Given the description of an element on the screen output the (x, y) to click on. 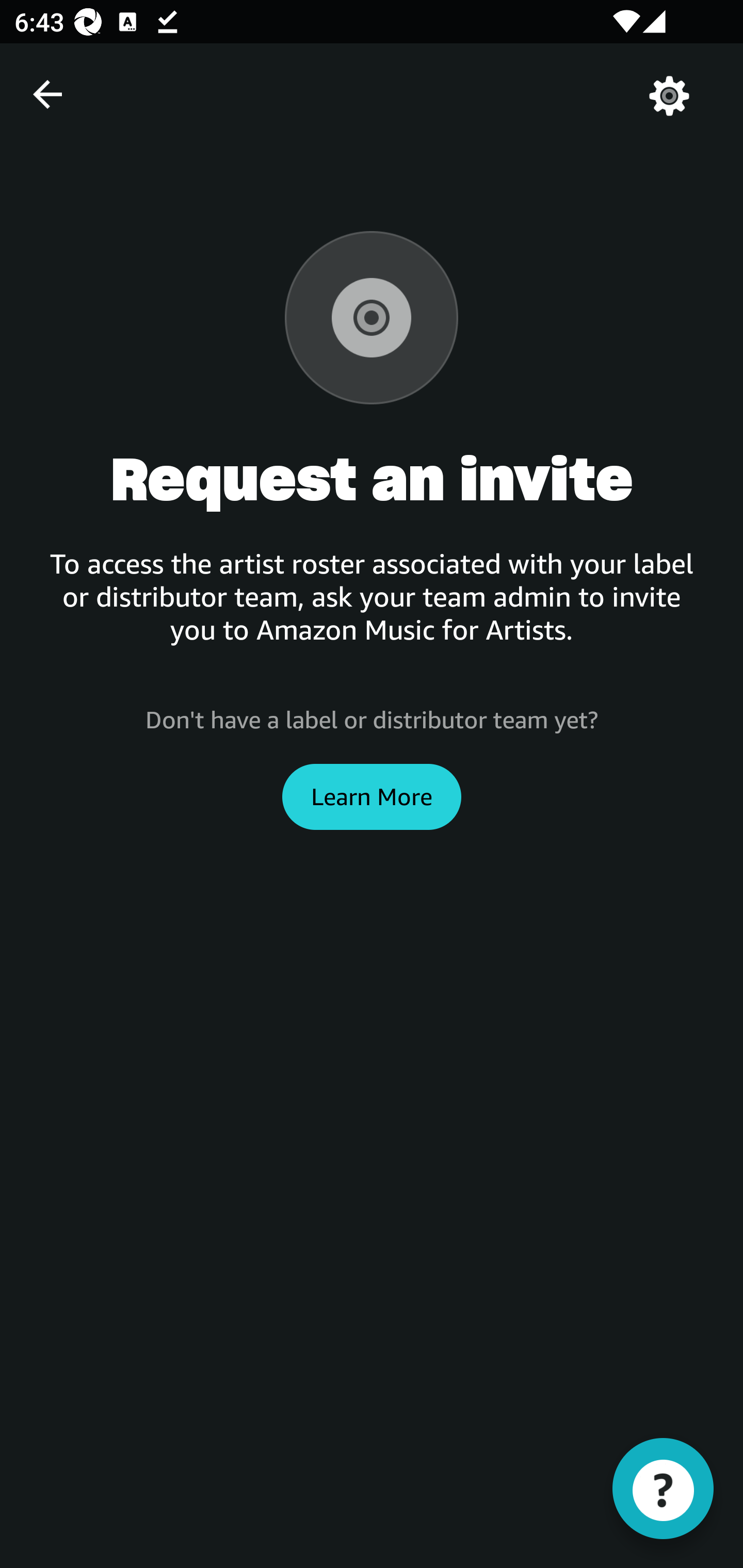
Learn more button Learn More (371, 796)
